Given the description of an element on the screen output the (x, y) to click on. 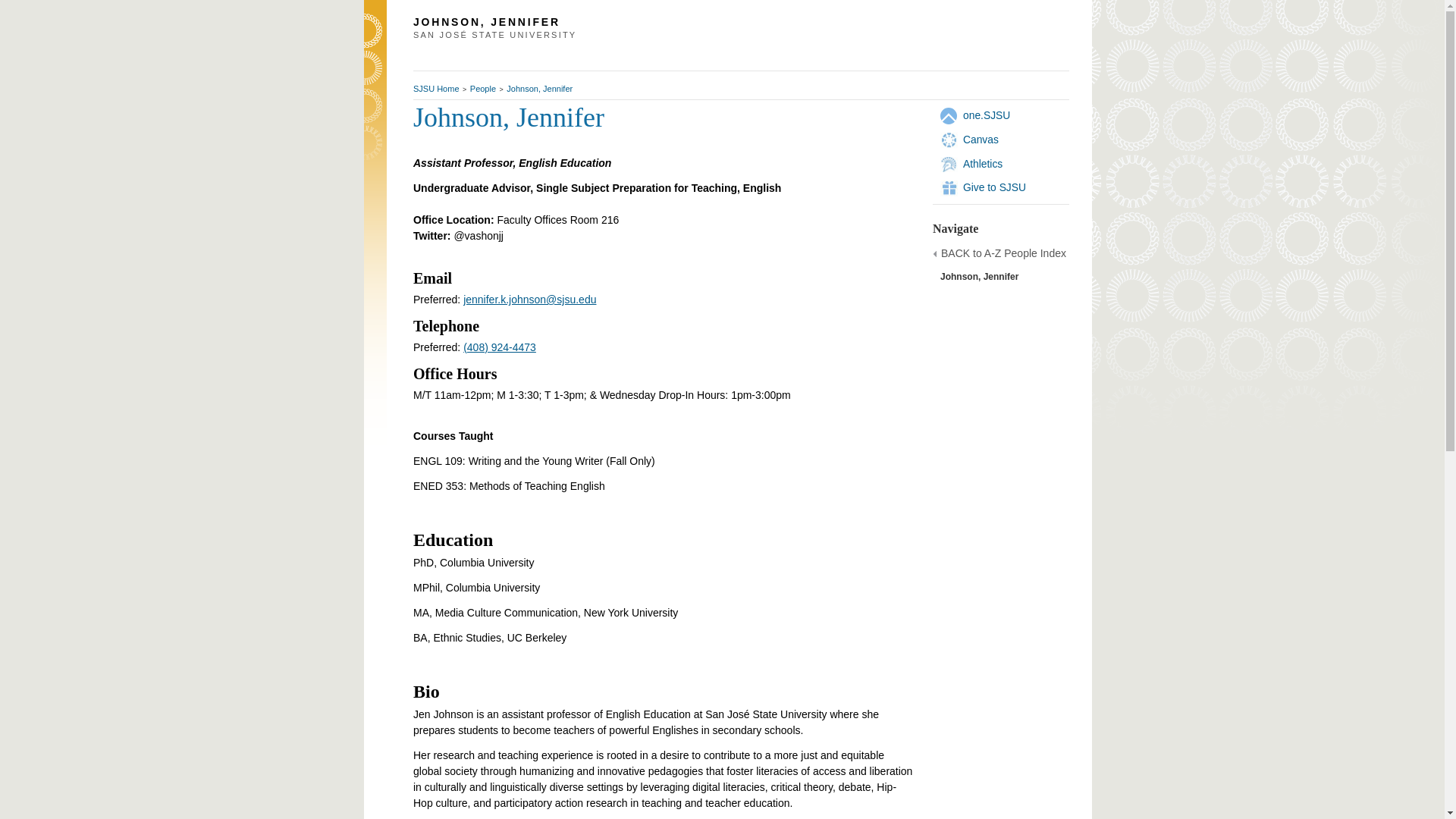
Athletics (982, 163)
People (483, 88)
Johnson, Jennifer (539, 88)
JOHNSON, JENNIFER (640, 22)
one.SJSU (986, 114)
BACK to A-Z People Index (1002, 254)
Give to SJSU (994, 186)
SJSU Home (436, 88)
Canvas (980, 139)
